Given the description of an element on the screen output the (x, y) to click on. 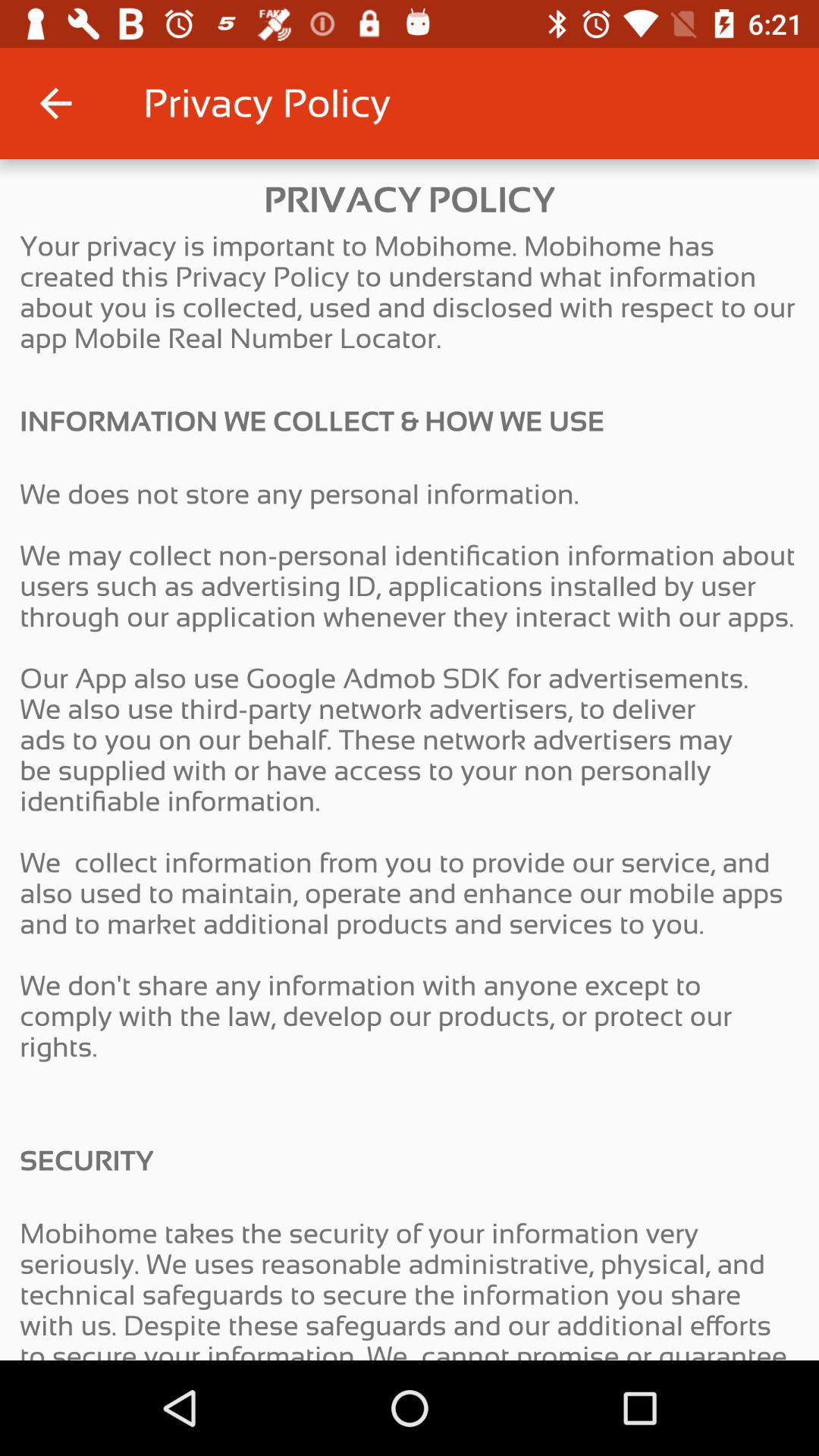
turn off the item to the left of the privacy policy (55, 103)
